Given the description of an element on the screen output the (x, y) to click on. 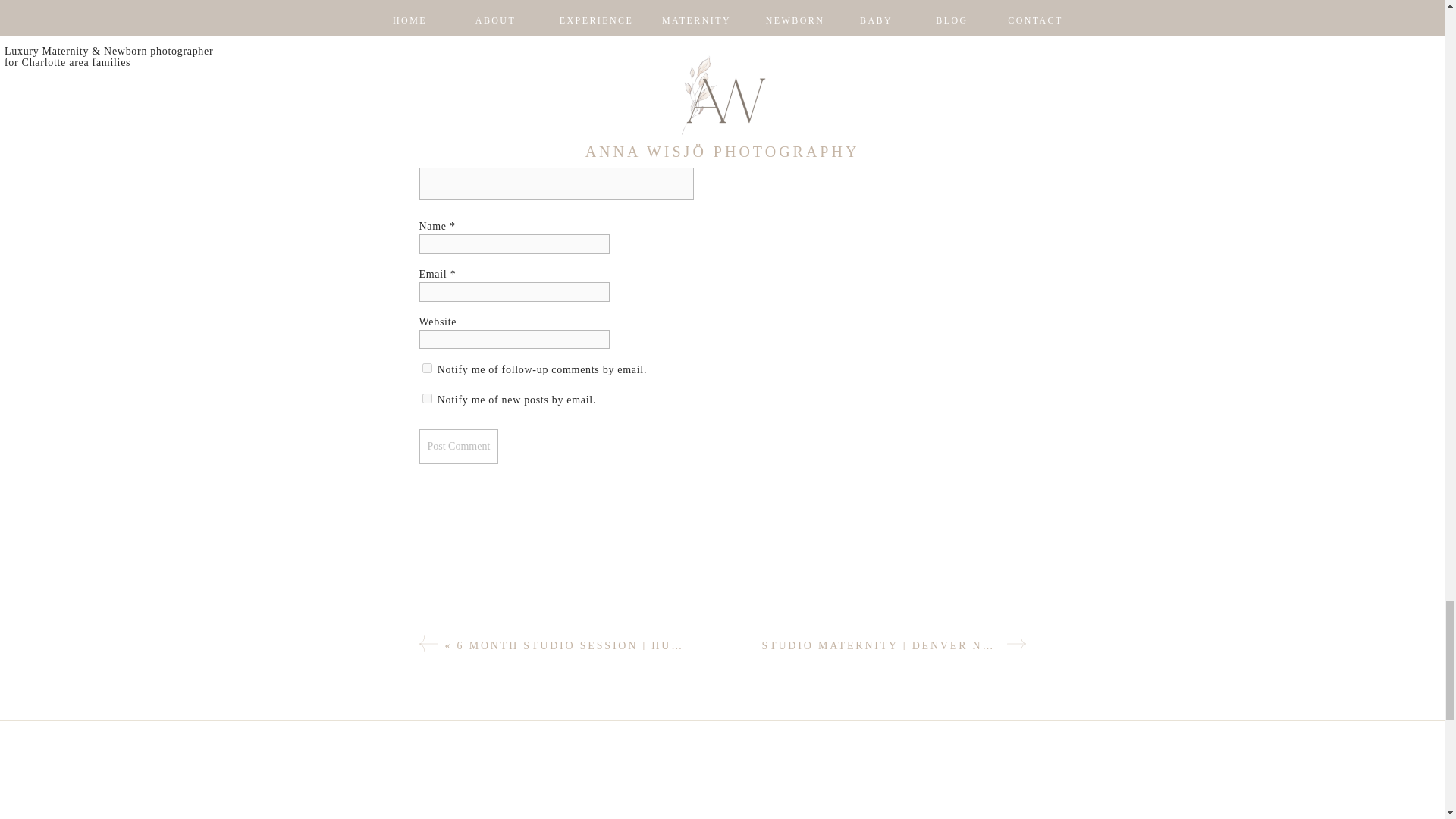
subscribe (426, 398)
subscribe (426, 368)
Post Comment (458, 446)
Post Comment (458, 446)
